Given the description of an element on the screen output the (x, y) to click on. 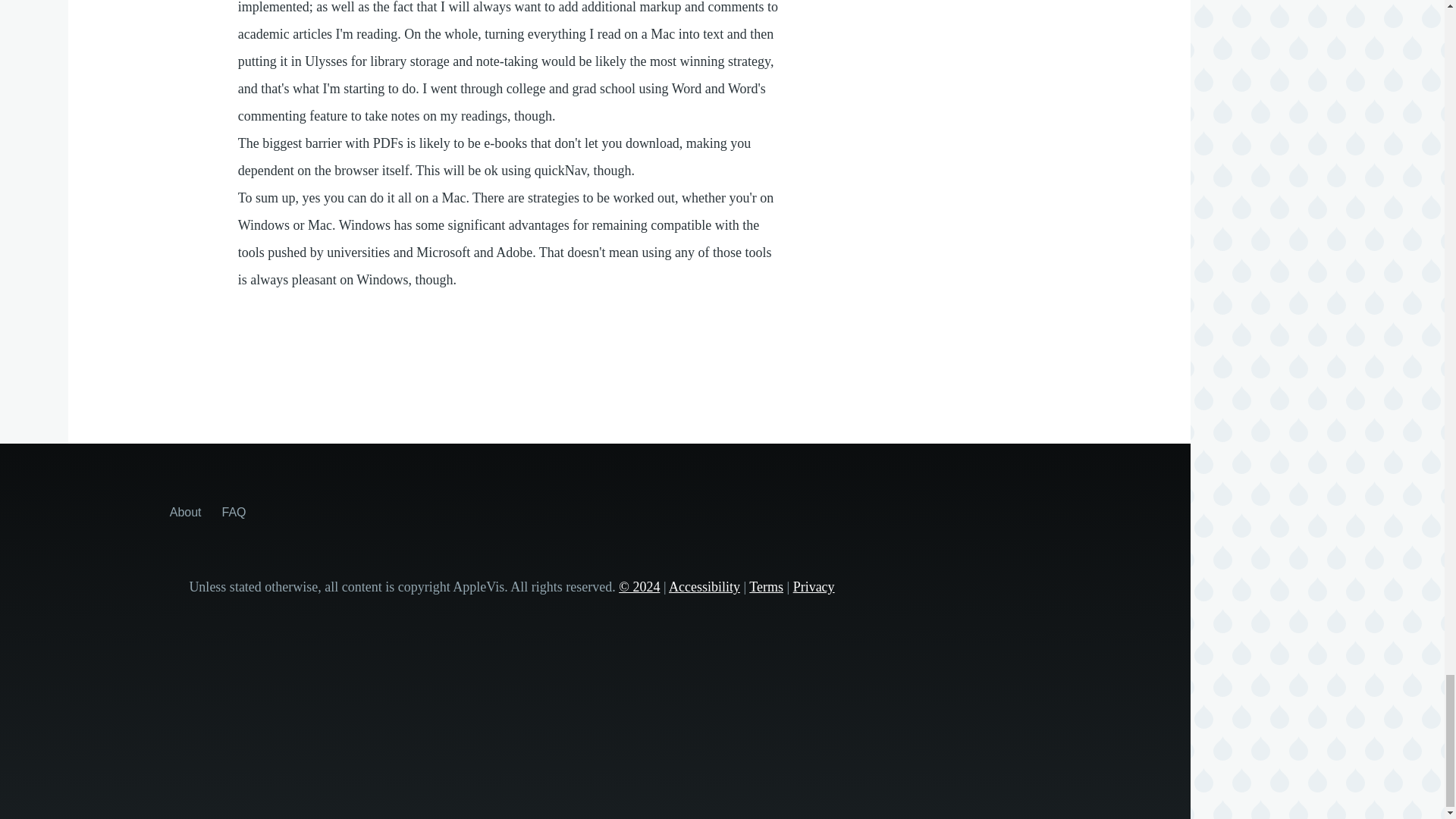
FAQ (234, 511)
Terms (766, 586)
Answers to some frequently asked questions about AppleVis (234, 511)
Privacy (813, 586)
Accessibility (703, 586)
About (186, 511)
About (186, 511)
